Given the description of an element on the screen output the (x, y) to click on. 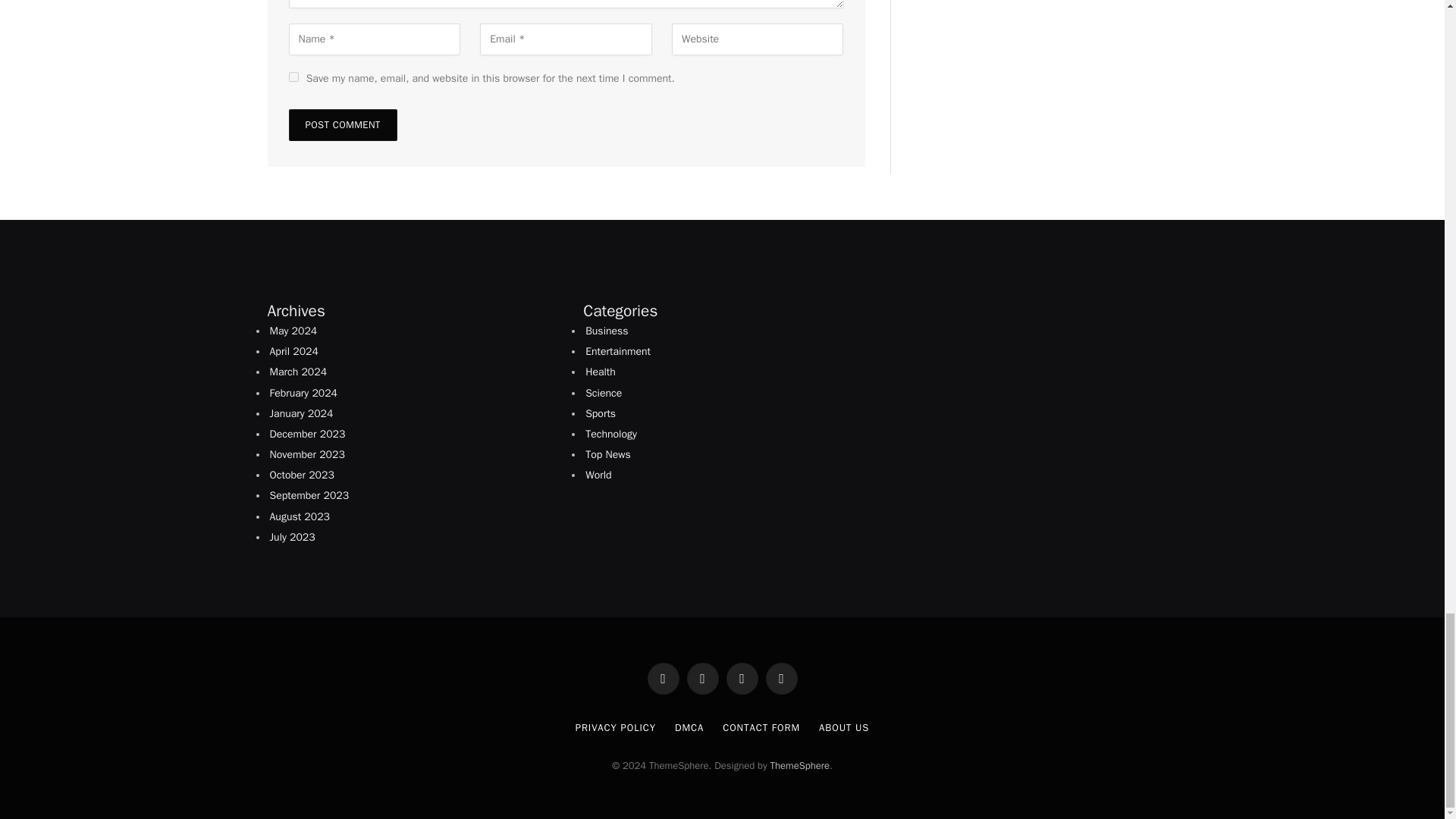
yes (293, 76)
Post Comment (342, 124)
